Given the description of an element on the screen output the (x, y) to click on. 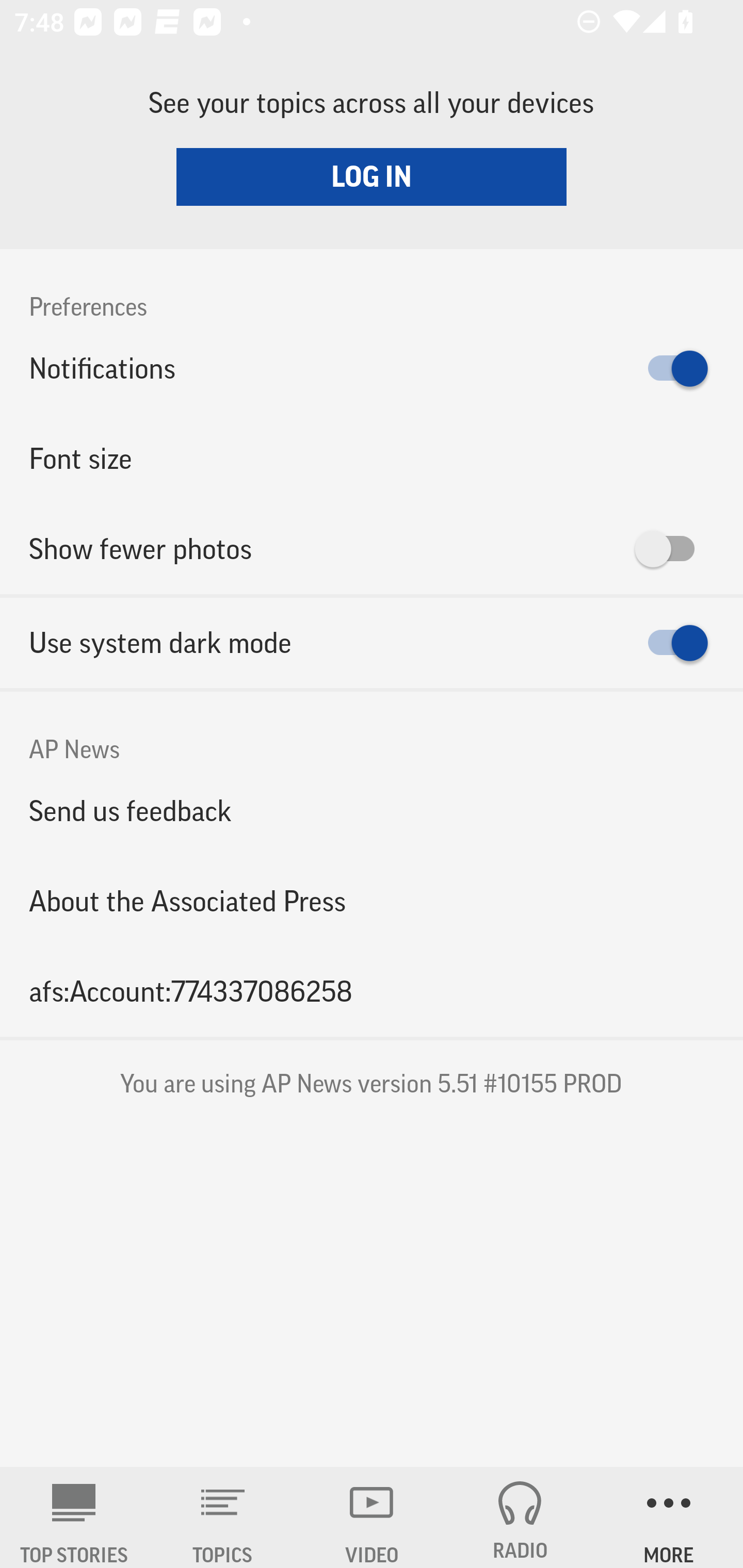
LOG IN (371, 176)
Notifications (371, 368)
Font size (371, 458)
Show fewer photos (371, 548)
Use system dark mode (371, 642)
Send us feedback (371, 810)
About the Associated Press (371, 901)
afs:Account:774337086258 (371, 991)
AP News TOP STORIES (74, 1517)
TOPICS (222, 1517)
VIDEO (371, 1517)
RADIO (519, 1517)
MORE (668, 1517)
